Given the description of an element on the screen output the (x, y) to click on. 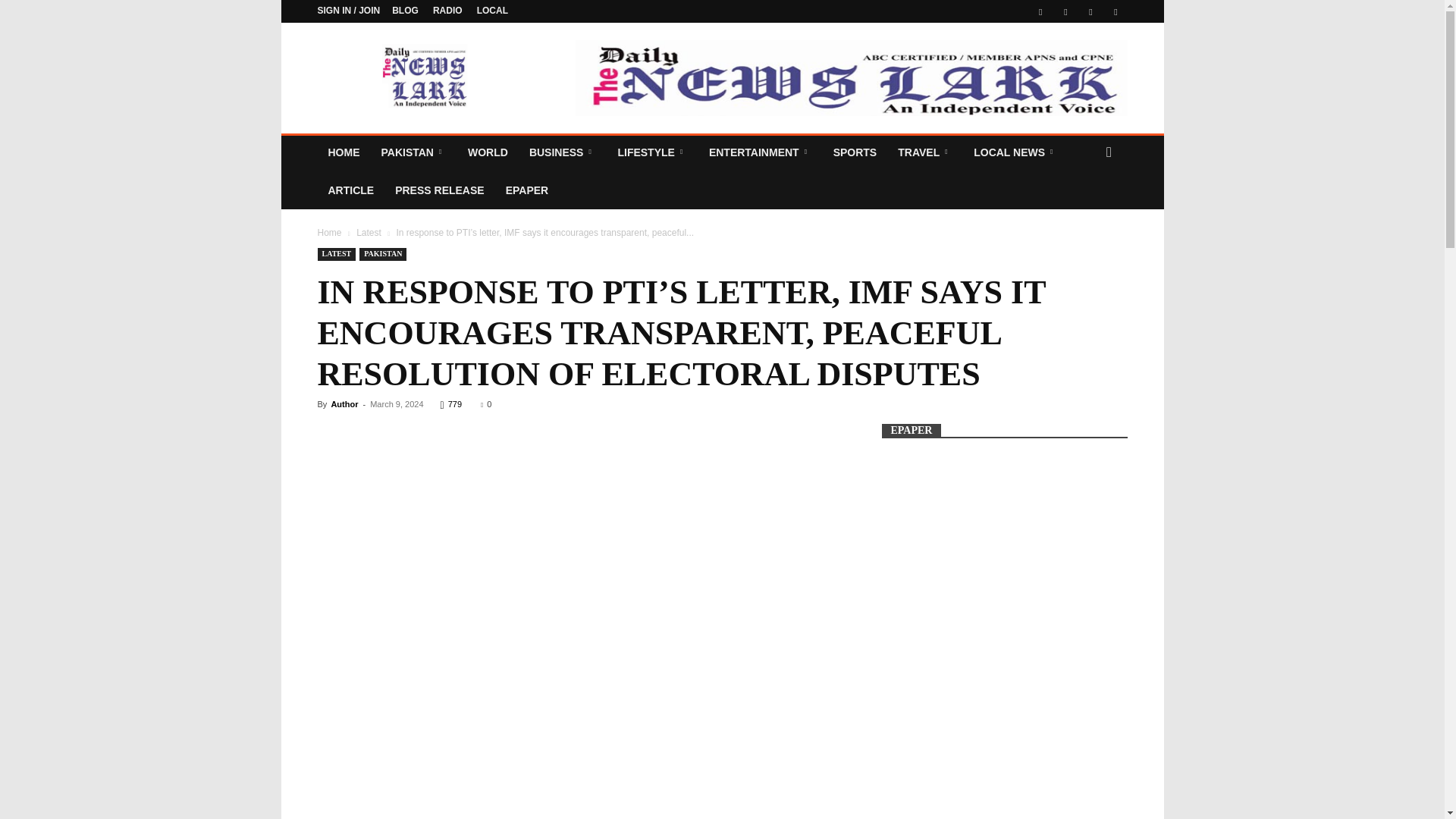
Youtube (1114, 11)
BLOG (405, 9)
RADIO (447, 9)
Twitter (1065, 11)
LOCAL (492, 9)
VKontakte (1090, 11)
Facebook (1040, 11)
